Given the description of an element on the screen output the (x, y) to click on. 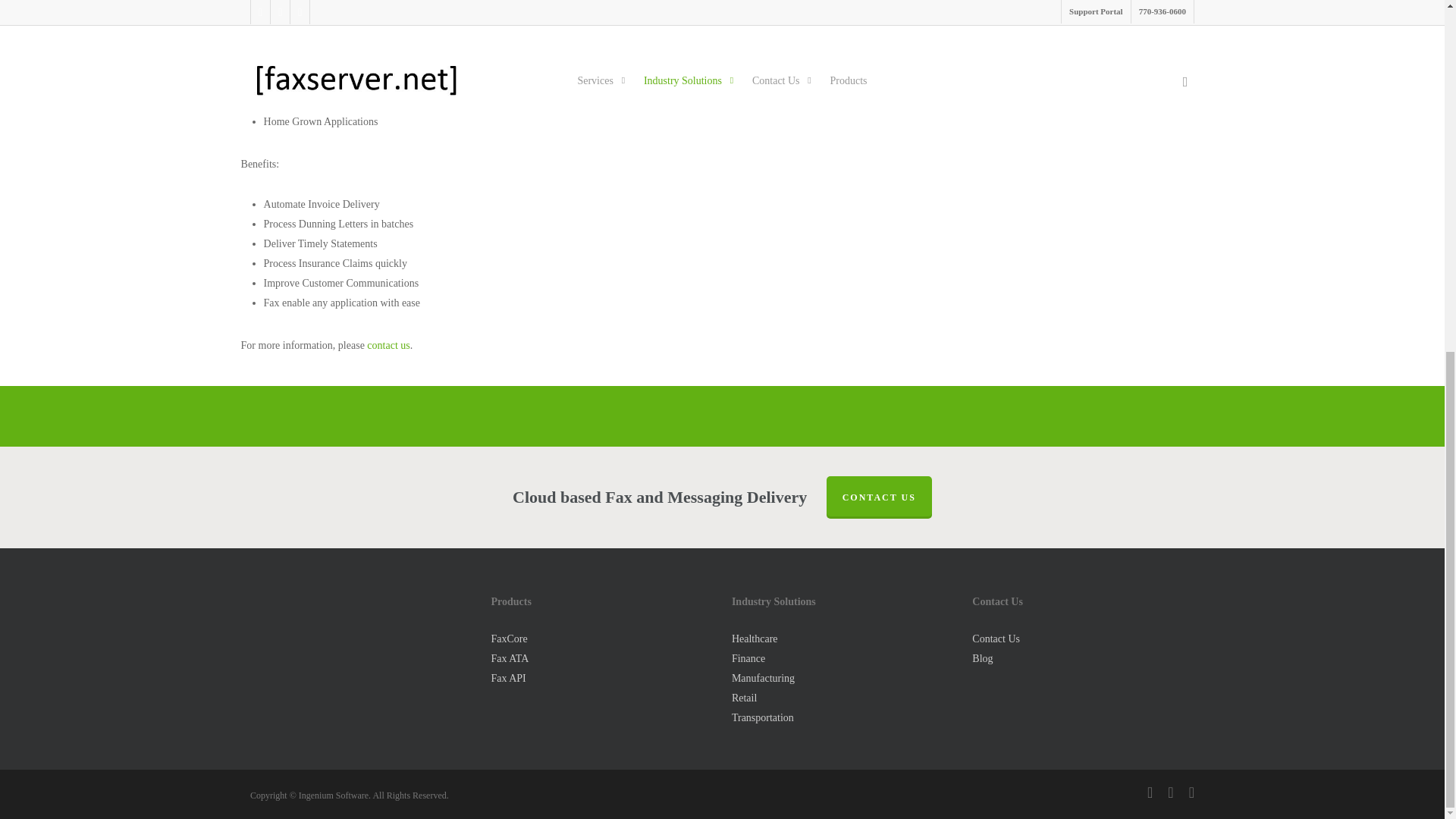
Contact Us (387, 345)
Healthcare (754, 638)
contact us (387, 345)
FaxCore (508, 638)
CONTACT US (879, 496)
Fax API (507, 677)
Finance (748, 658)
Fax ATA (509, 658)
